Given the description of an element on the screen output the (x, y) to click on. 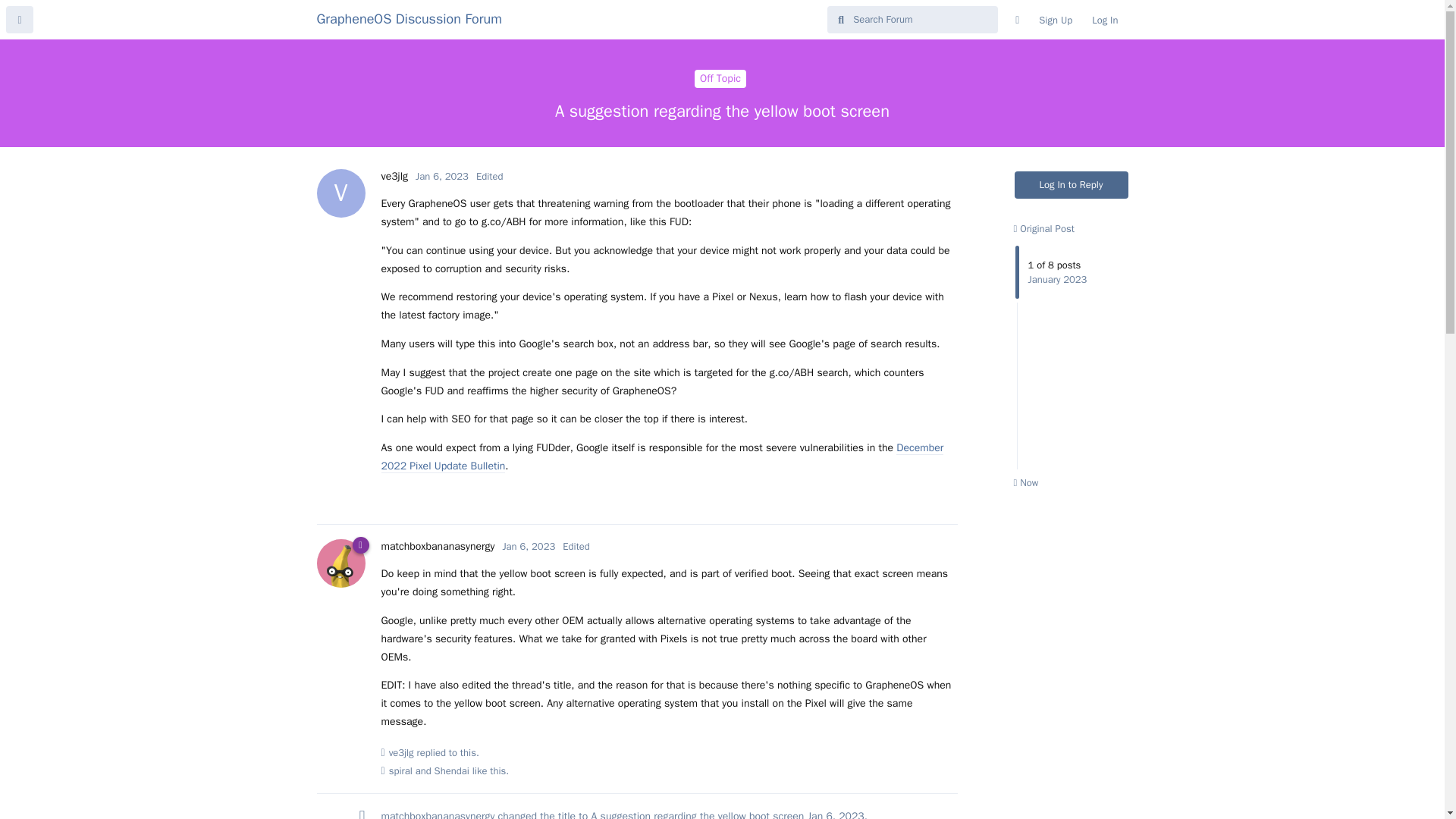
ve3jlg (400, 752)
matchboxbananasynergy (437, 814)
Jan 6, 2023 (393, 175)
GrapheneOS Discussion Forum (528, 545)
Shendai (409, 18)
Friday, January 6, 2023 2:01 AM (450, 770)
December 2022 Pixel Update Bulletin (528, 545)
matchboxbananasynergy (661, 457)
Log In to Reply (437, 545)
Log In (1071, 185)
Friday, January 6, 2023 2:01 AM (1103, 19)
Jan 6, 2023 (836, 814)
Off Topic (441, 175)
Now (719, 78)
